Given the description of an element on the screen output the (x, y) to click on. 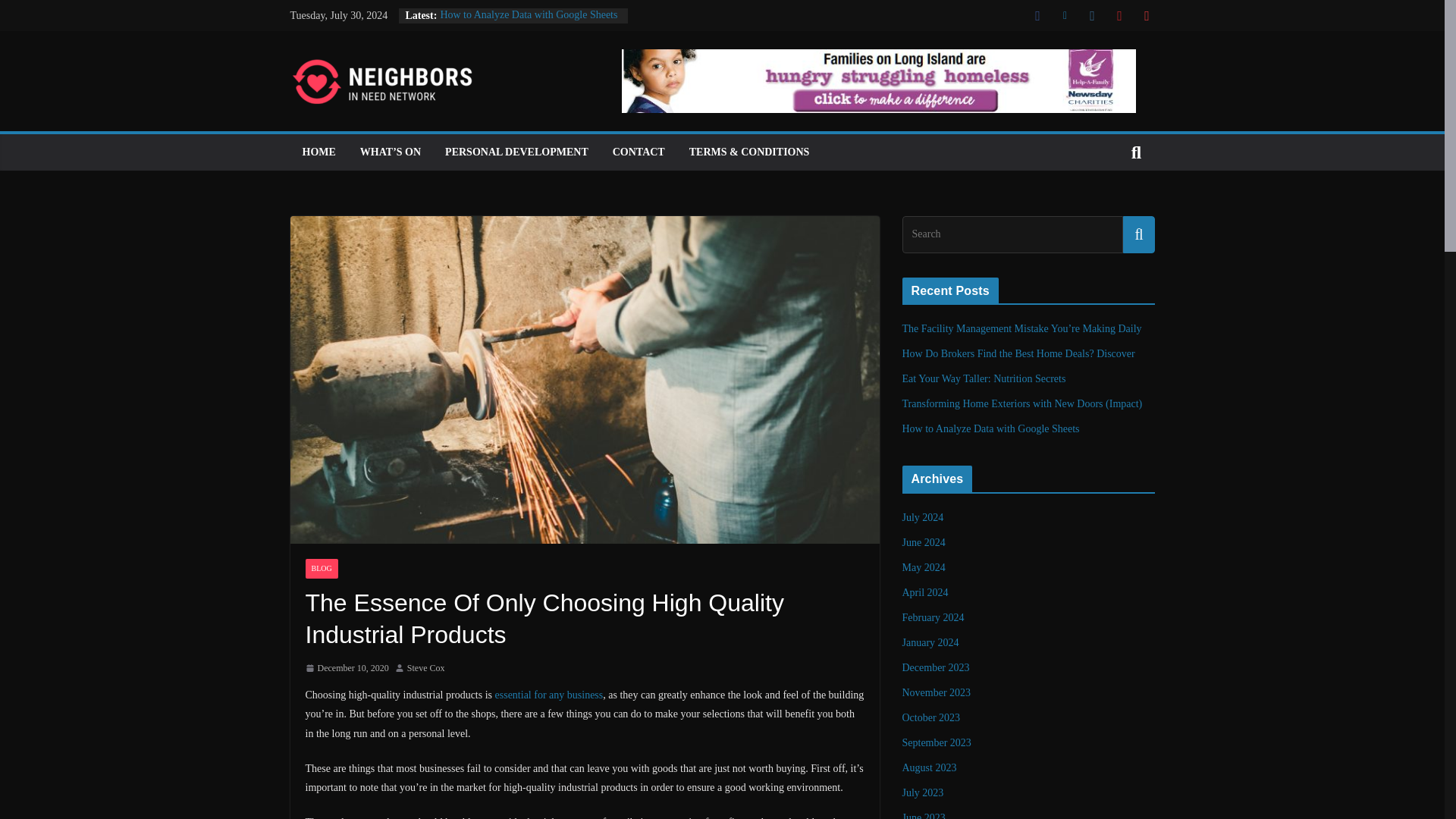
Steve Cox (426, 668)
HOME (317, 151)
January 2024 (930, 642)
CONTACT (638, 151)
July 2024 (922, 517)
2:31 am (346, 668)
Eat Your Way Taller: Nutrition Secrets (983, 378)
April 2024 (925, 592)
essential for any business (549, 695)
December 2023 (935, 667)
How to Analyze Data with Google Sheets (991, 428)
How to Analyze Data with Google Sheets (528, 14)
How Do Brokers Find the Best Home Deals? Discover (1018, 353)
How to Analyze Data with Google Sheets (528, 14)
June 2024 (923, 542)
